Given the description of an element on the screen output the (x, y) to click on. 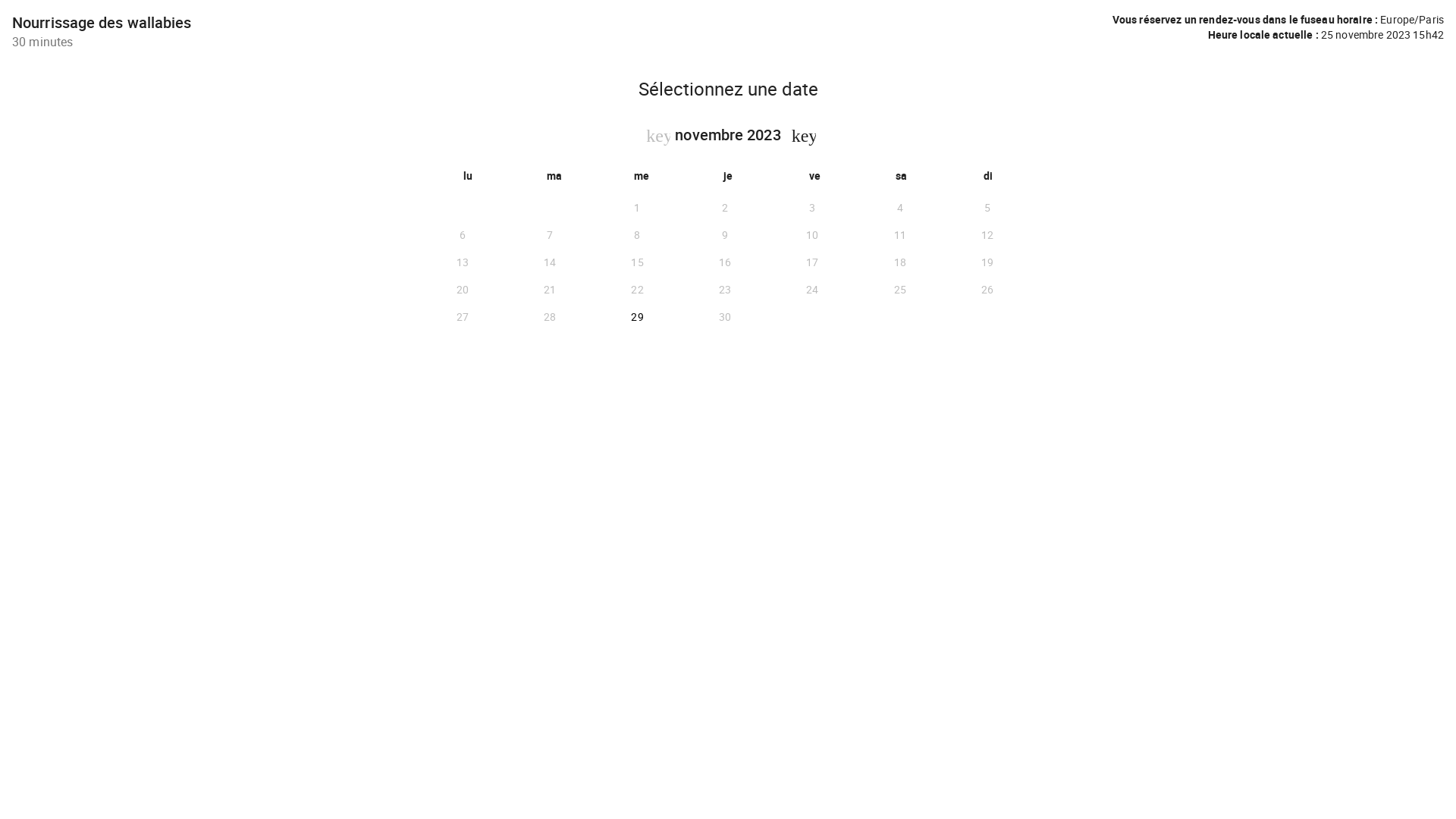
17 Element type: text (812, 262)
23 Element type: text (724, 289)
9 Element type: text (724, 234)
28 Element type: text (549, 316)
19 Element type: text (987, 262)
14 Element type: text (549, 262)
7 Element type: text (549, 234)
15 Element type: text (636, 262)
21 Element type: text (549, 289)
1 Element type: text (636, 207)
8 Element type: text (636, 234)
20 Element type: text (461, 289)
25 Element type: text (899, 289)
30 Element type: text (724, 316)
13 Element type: text (461, 262)
24 Element type: text (812, 289)
26 Element type: text (987, 289)
16 Element type: text (724, 262)
11 Element type: text (899, 234)
5 Element type: text (987, 207)
22 Element type: text (636, 289)
29
2023-11-29 Element type: text (636, 316)
2 Element type: text (724, 207)
27 Element type: text (461, 316)
12 Element type: text (987, 234)
10 Element type: text (812, 234)
18 Element type: text (899, 262)
6 Element type: text (461, 234)
3 Element type: text (812, 207)
4 Element type: text (899, 207)
